Given the description of an element on the screen output the (x, y) to click on. 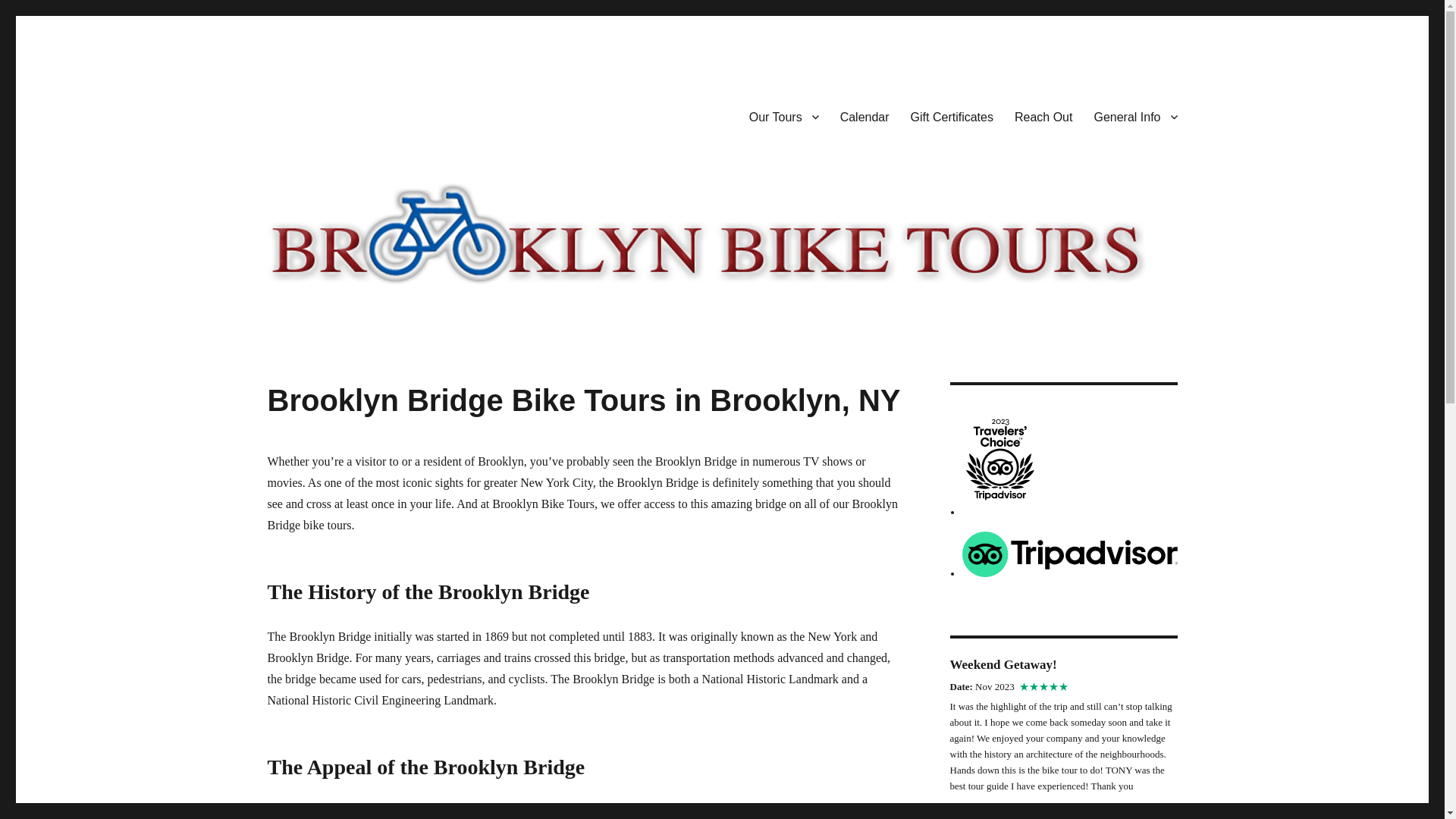
Reach Out (1043, 116)
Gift Certificates (951, 116)
Calendar (864, 116)
Brooklyn Bike Tours (369, 114)
Our Tours (783, 116)
General Info (1135, 116)
